Given the description of an element on the screen output the (x, y) to click on. 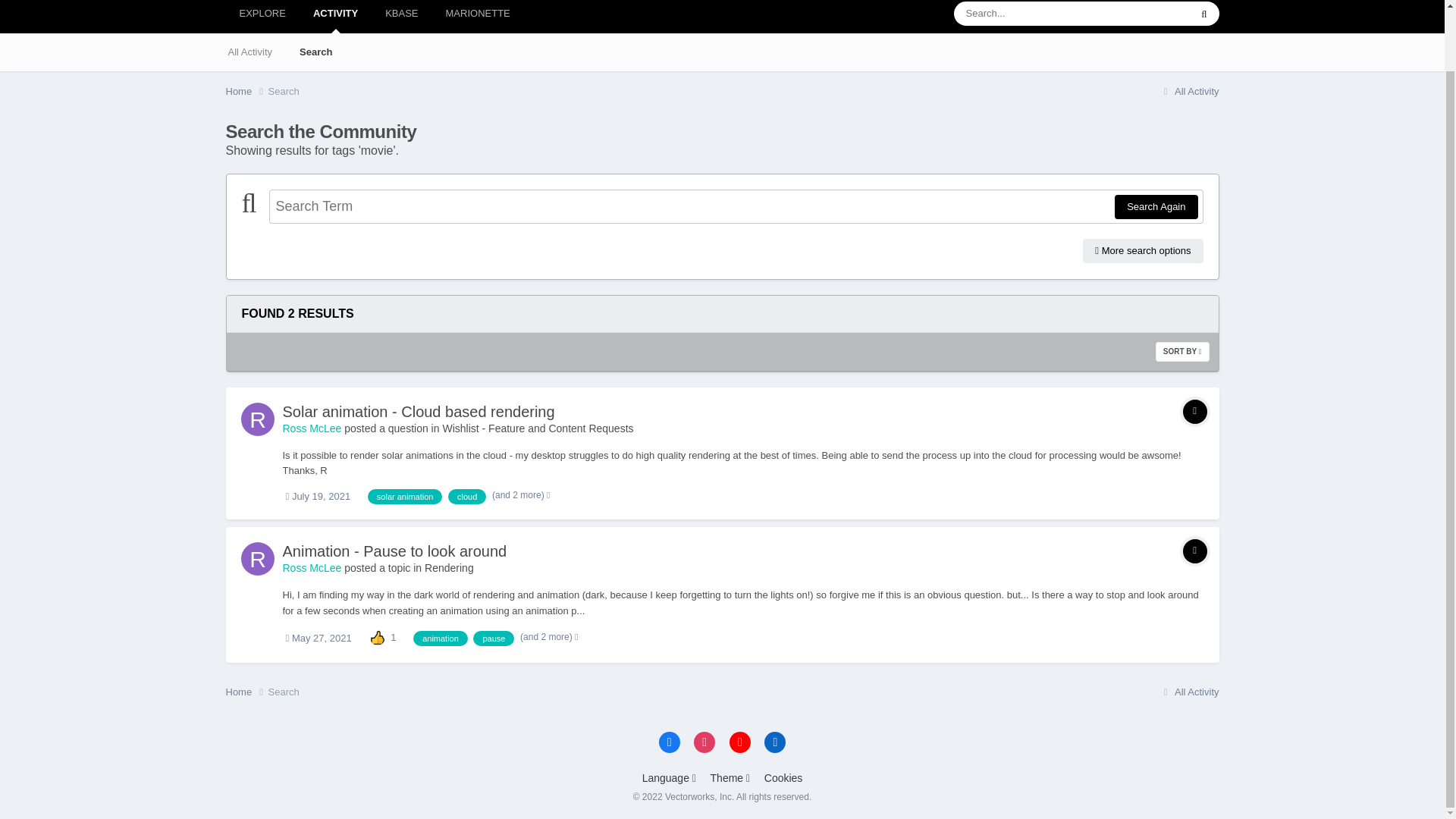
Like (377, 636)
Go to Ross McLee's profile (311, 428)
Home (246, 91)
Search (283, 91)
Go to Ross McLee's profile (258, 558)
MARIONETTE (478, 16)
Find other content tagged with 'animation' (440, 638)
Topic (1194, 550)
Search (315, 52)
Go to Ross McLee's profile (311, 567)
